Given the description of an element on the screen output the (x, y) to click on. 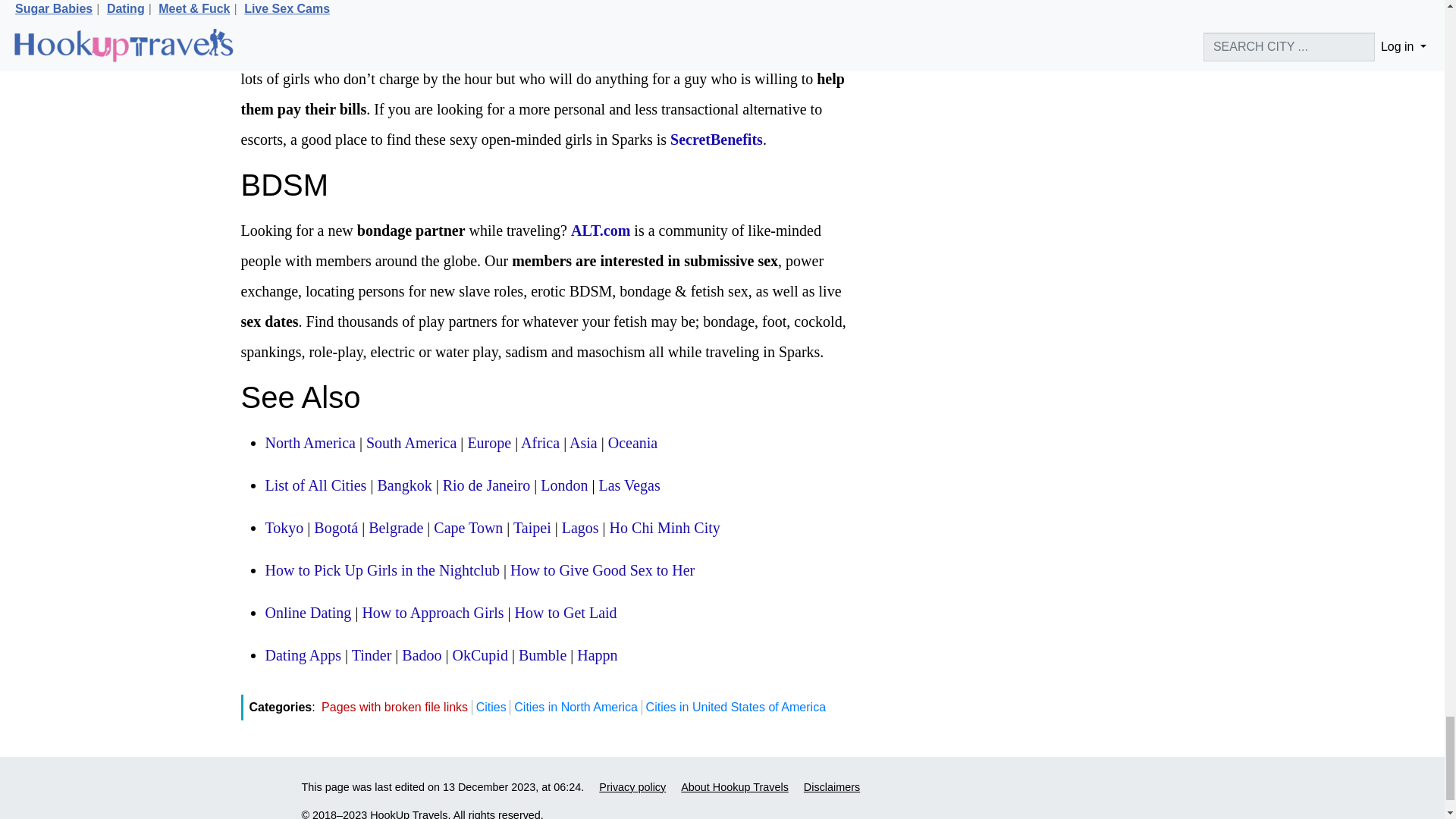
North America (309, 442)
South America (411, 442)
Oceania (633, 442)
Rio de Janeiro (486, 484)
Bangkok (403, 484)
Africa (540, 442)
Category:Cities (315, 484)
South America (411, 442)
ALT.com (600, 230)
Las Vegas (628, 484)
